Given the description of an element on the screen output the (x, y) to click on. 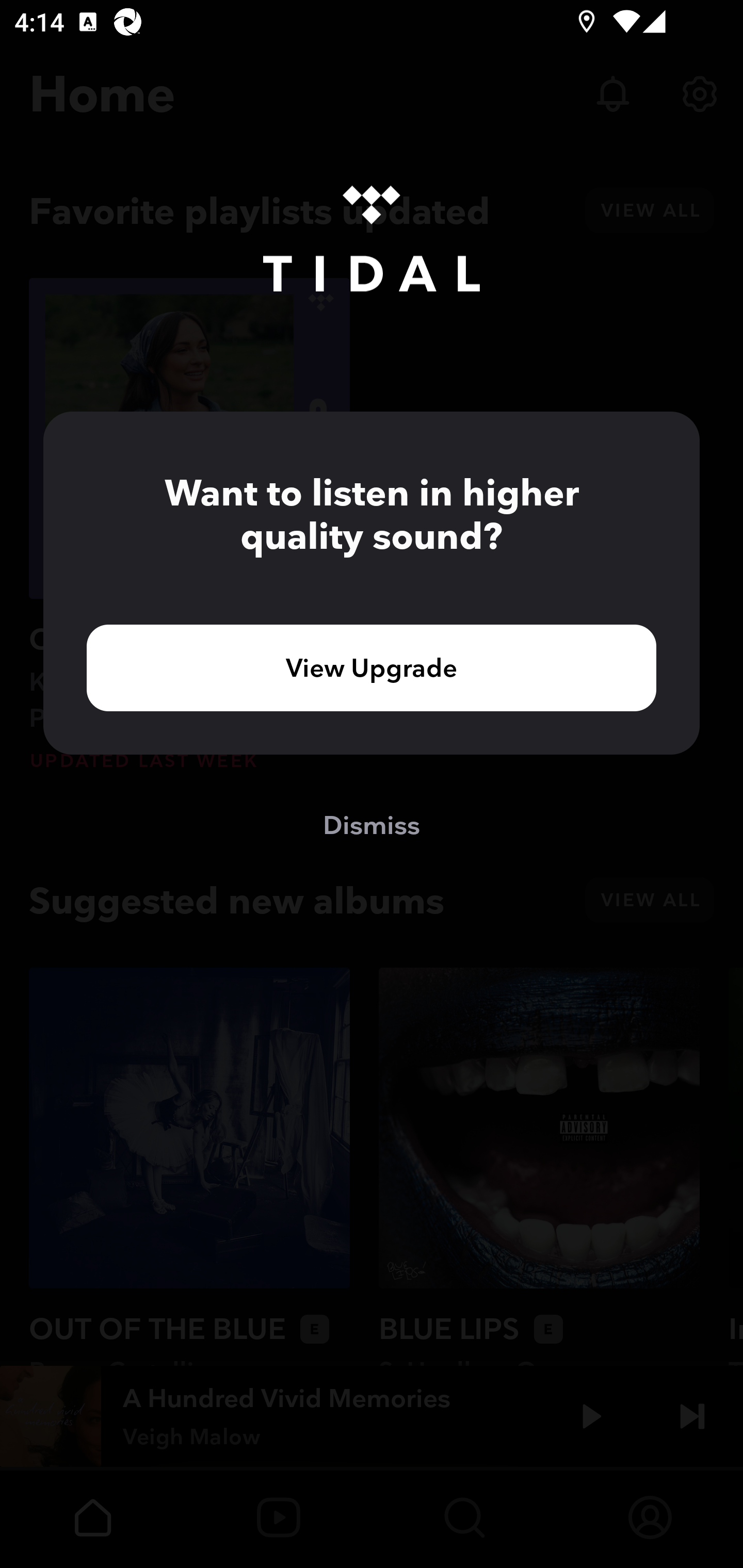
View Upgrade (371, 667)
Dismiss (371, 824)
